Given the description of an element on the screen output the (x, y) to click on. 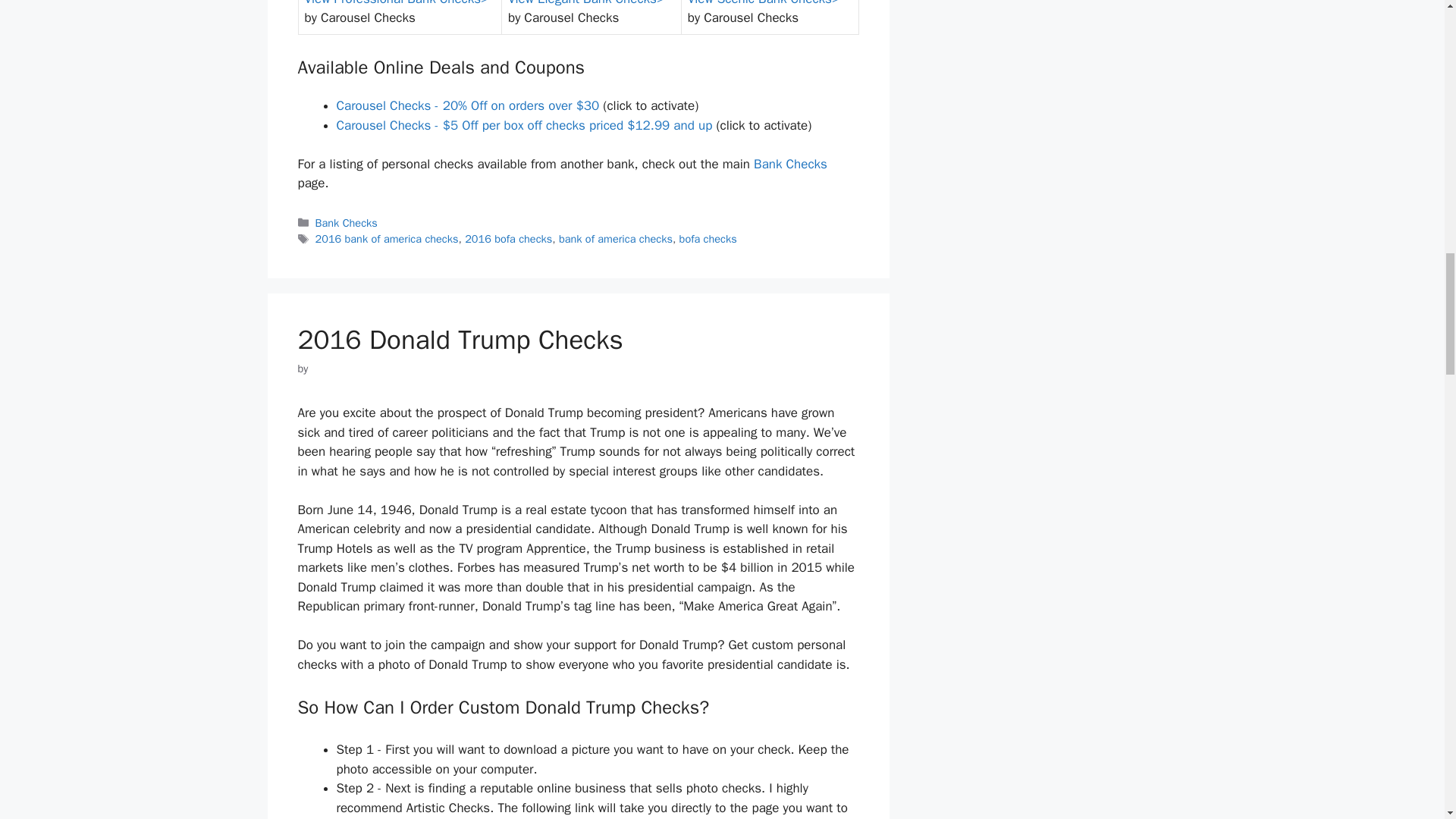
Bank Checks (346, 223)
2016 bank of america checks (386, 238)
Bank Checks (790, 163)
2016 bofa checks (507, 238)
